Given the description of an element on the screen output the (x, y) to click on. 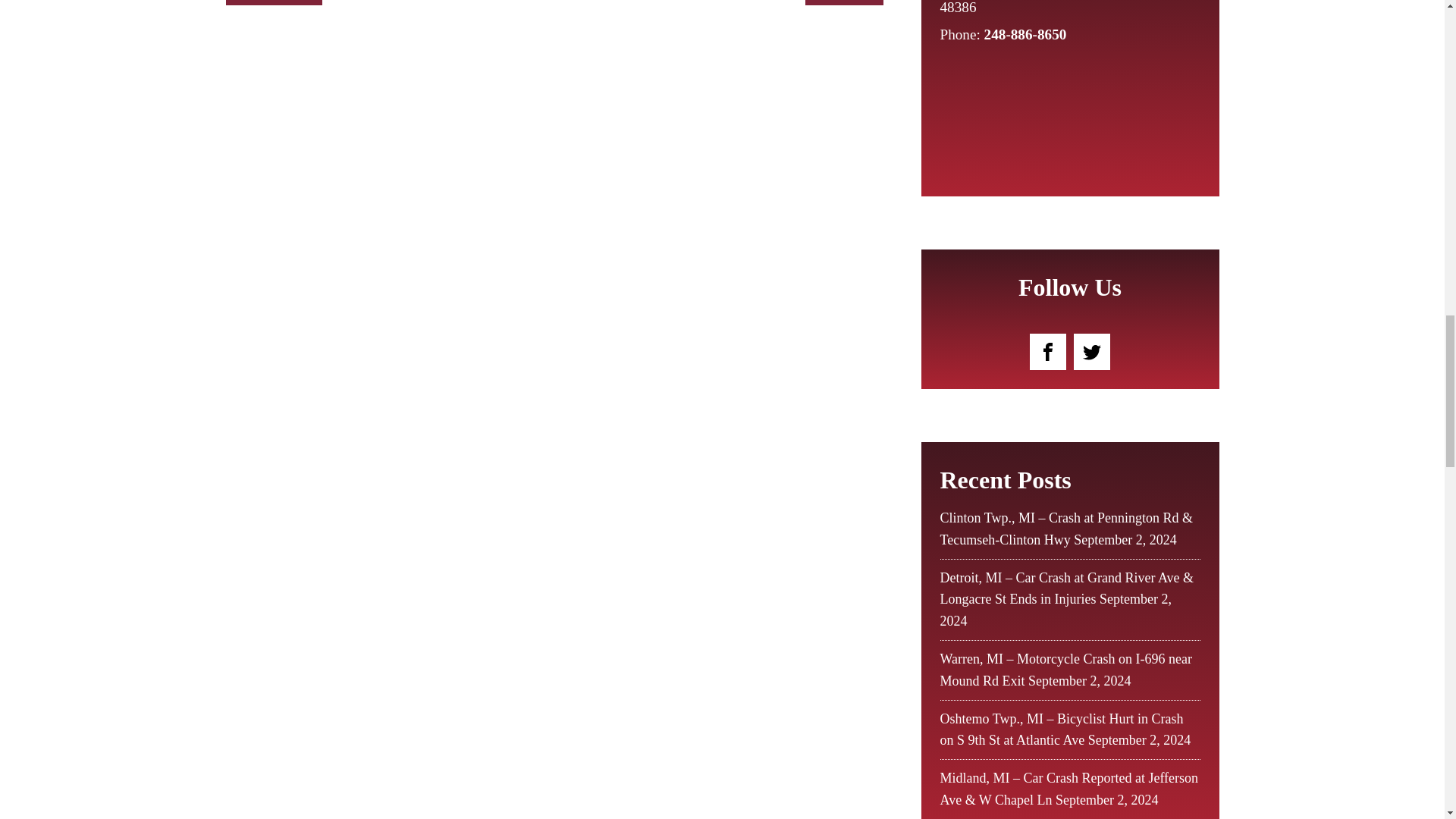
Previous Post (274, 2)
248-886-8650 (1025, 34)
9750 Highland Road White Lake, MI 48386 (1056, 9)
Next Post (844, 2)
